Given the description of an element on the screen output the (x, y) to click on. 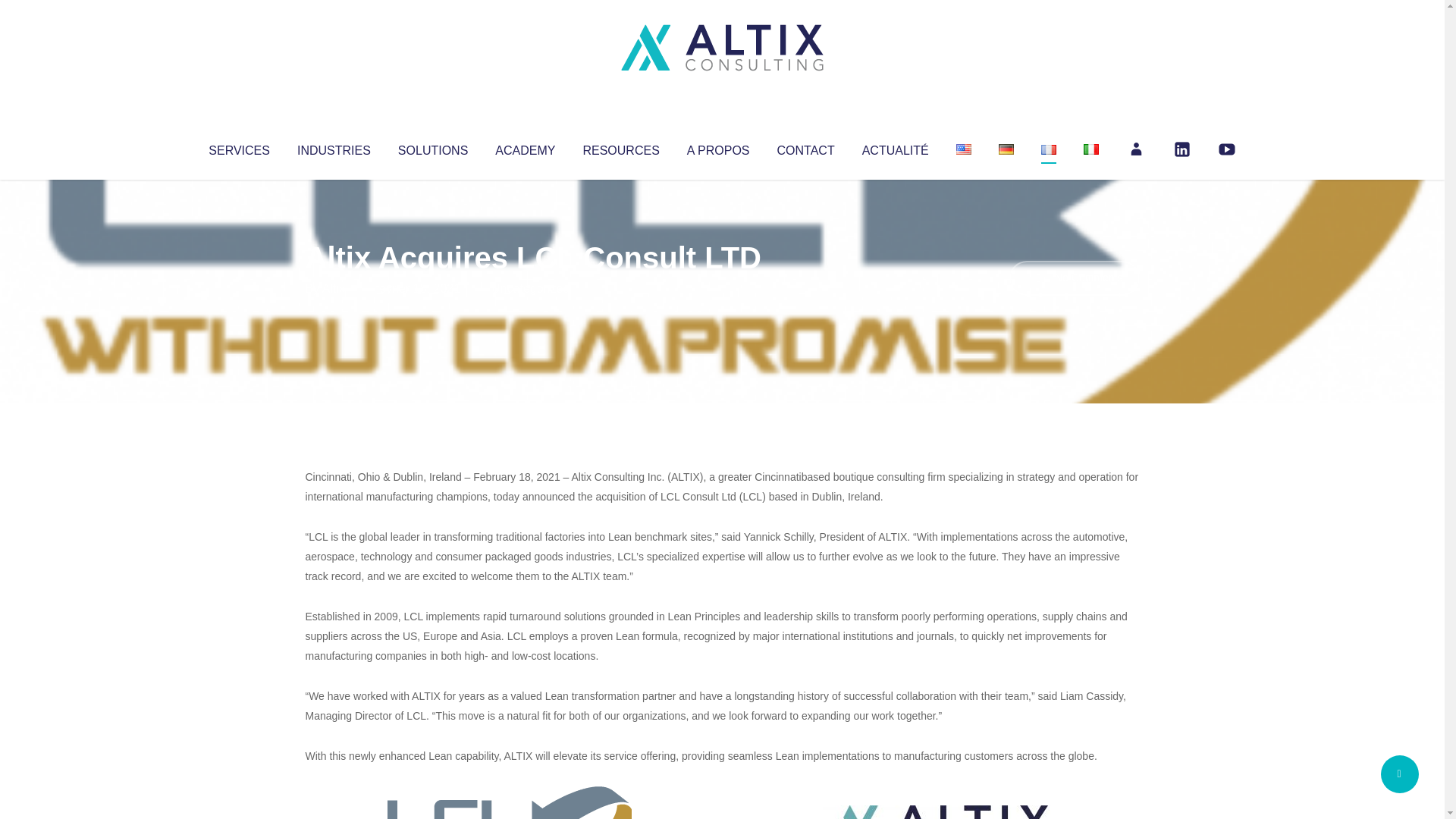
SERVICES (238, 146)
Altix (333, 287)
Articles par Altix (333, 287)
A PROPOS (718, 146)
INDUSTRIES (334, 146)
No Comments (1073, 278)
ACADEMY (524, 146)
RESOURCES (620, 146)
Uncategorized (530, 287)
SOLUTIONS (432, 146)
